Given the description of an element on the screen output the (x, y) to click on. 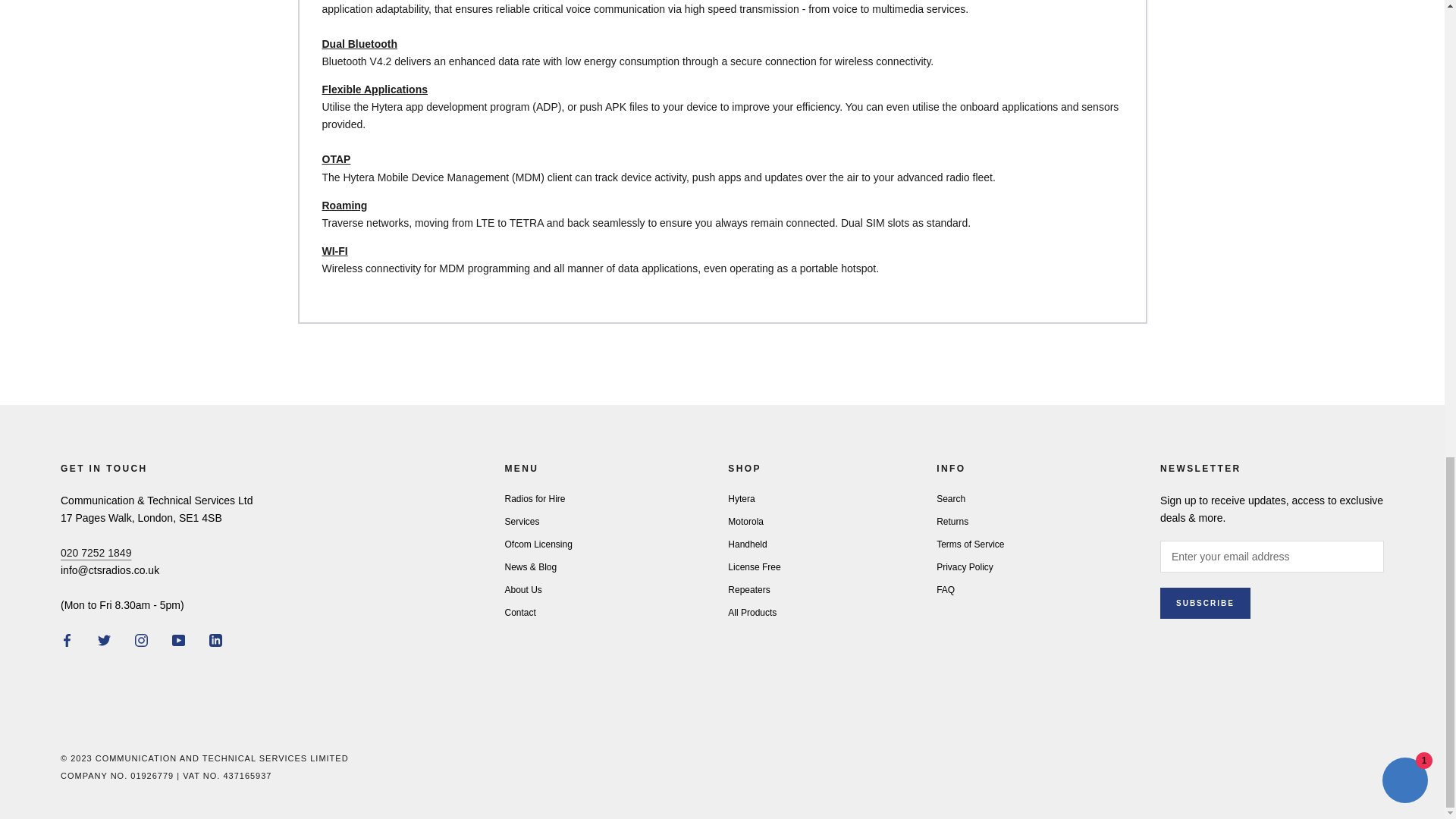
Call CTS Radios London (96, 552)
